Given the description of an element on the screen output the (x, y) to click on. 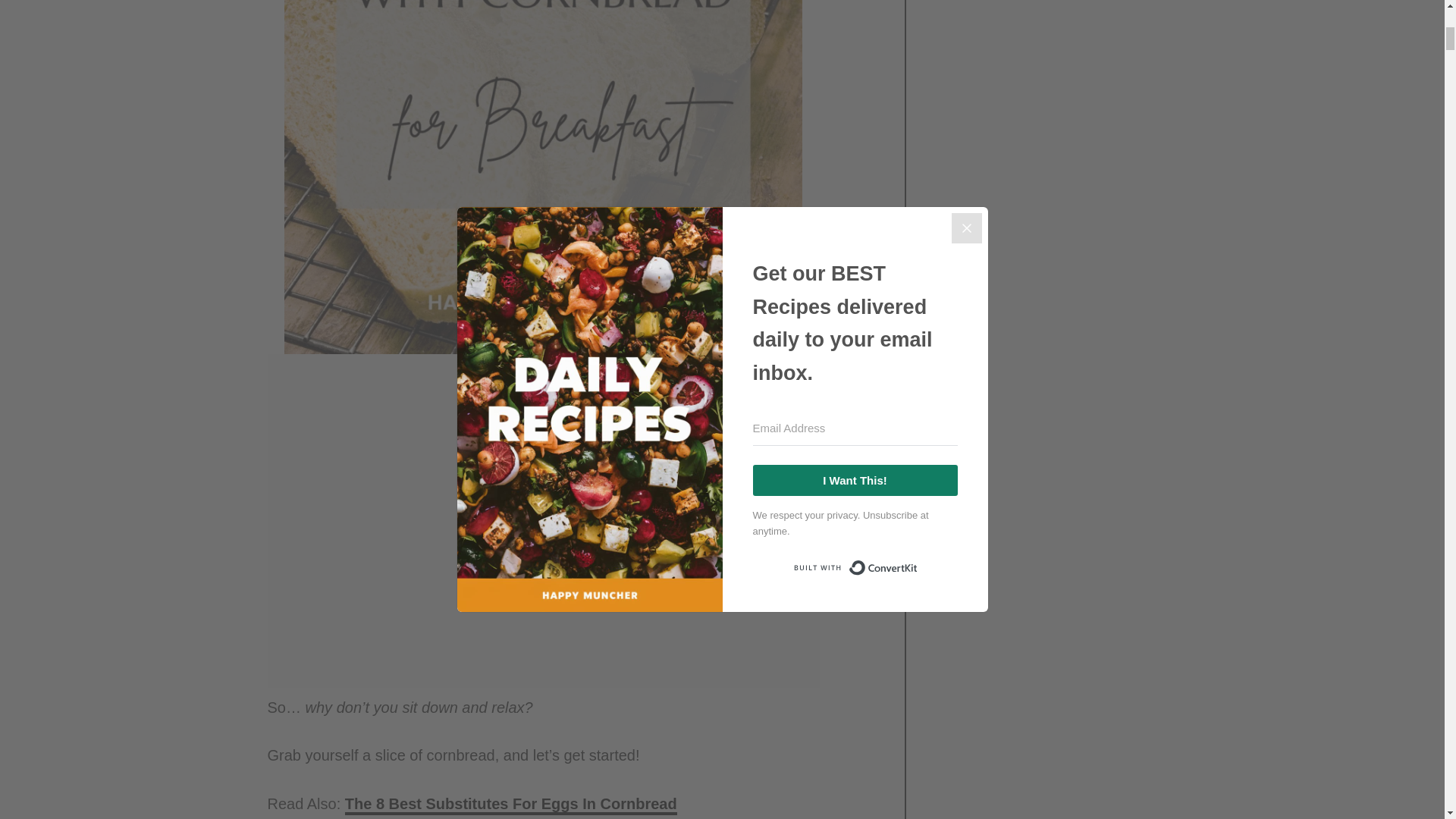
The 8 Best Substitutes For Eggs In Cornbread (511, 804)
